Given the description of an element on the screen output the (x, y) to click on. 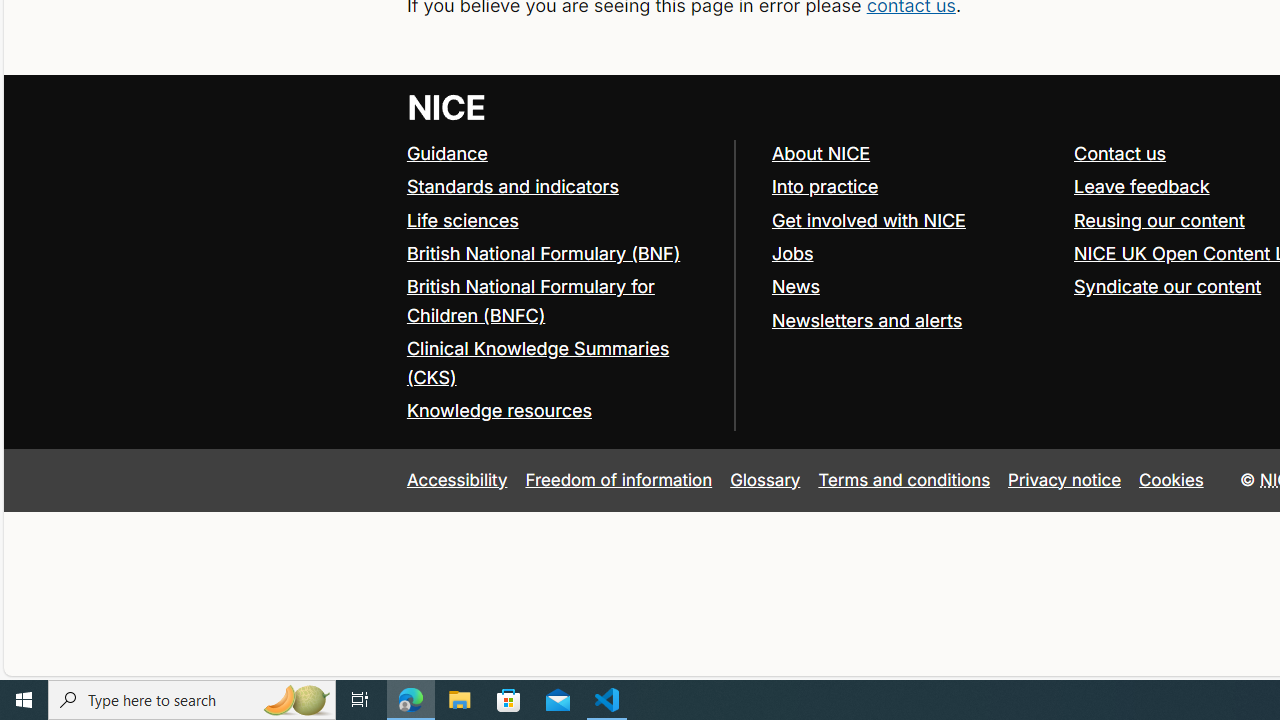
Privacy notice (1065, 479)
Reusing our content (1159, 219)
Accessibility (456, 479)
About NICE (913, 153)
Into practice (824, 186)
Guidance (446, 152)
Life sciences (461, 219)
Jobs (913, 254)
Accessibility (456, 479)
Terms and conditions (903, 479)
Knowledge resources (560, 411)
British National Formulary for Children (BNFC) (530, 300)
